Given the description of an element on the screen output the (x, y) to click on. 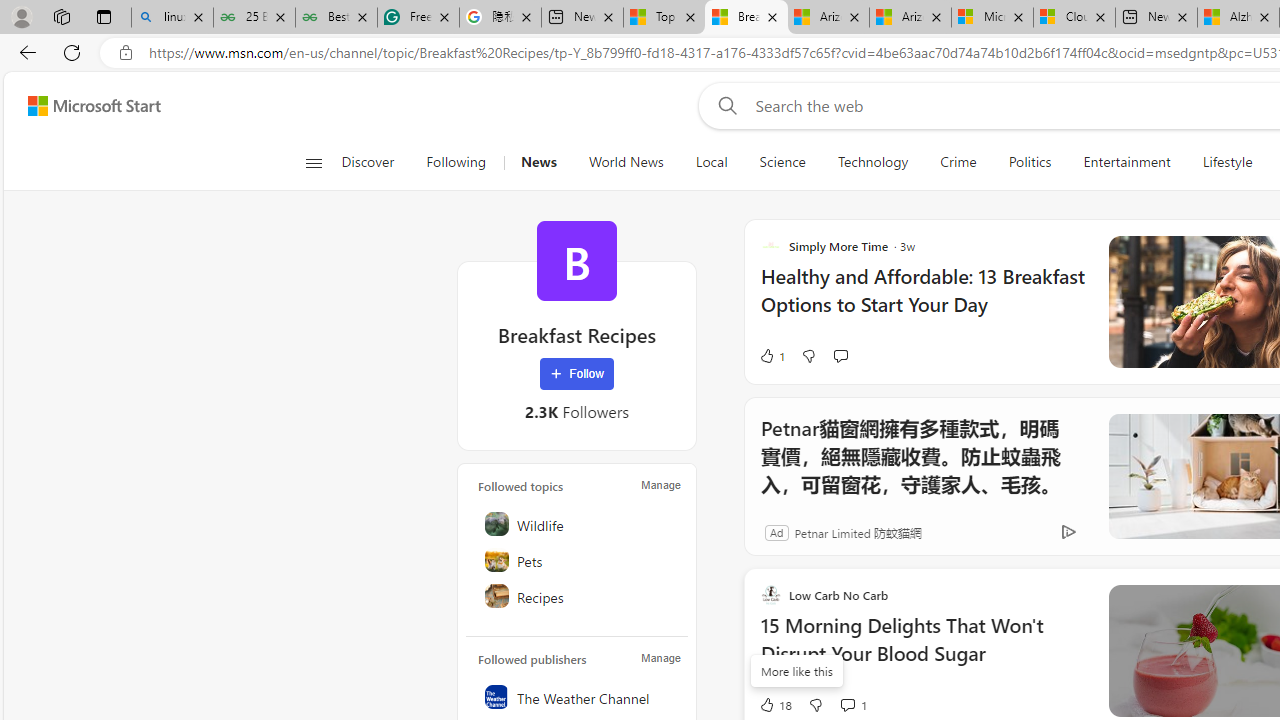
1 Like (771, 355)
Crime (957, 162)
Skip to content (86, 105)
Start the conversation (840, 355)
World News (625, 162)
Open navigation menu (313, 162)
